Given the description of an element on the screen output the (x, y) to click on. 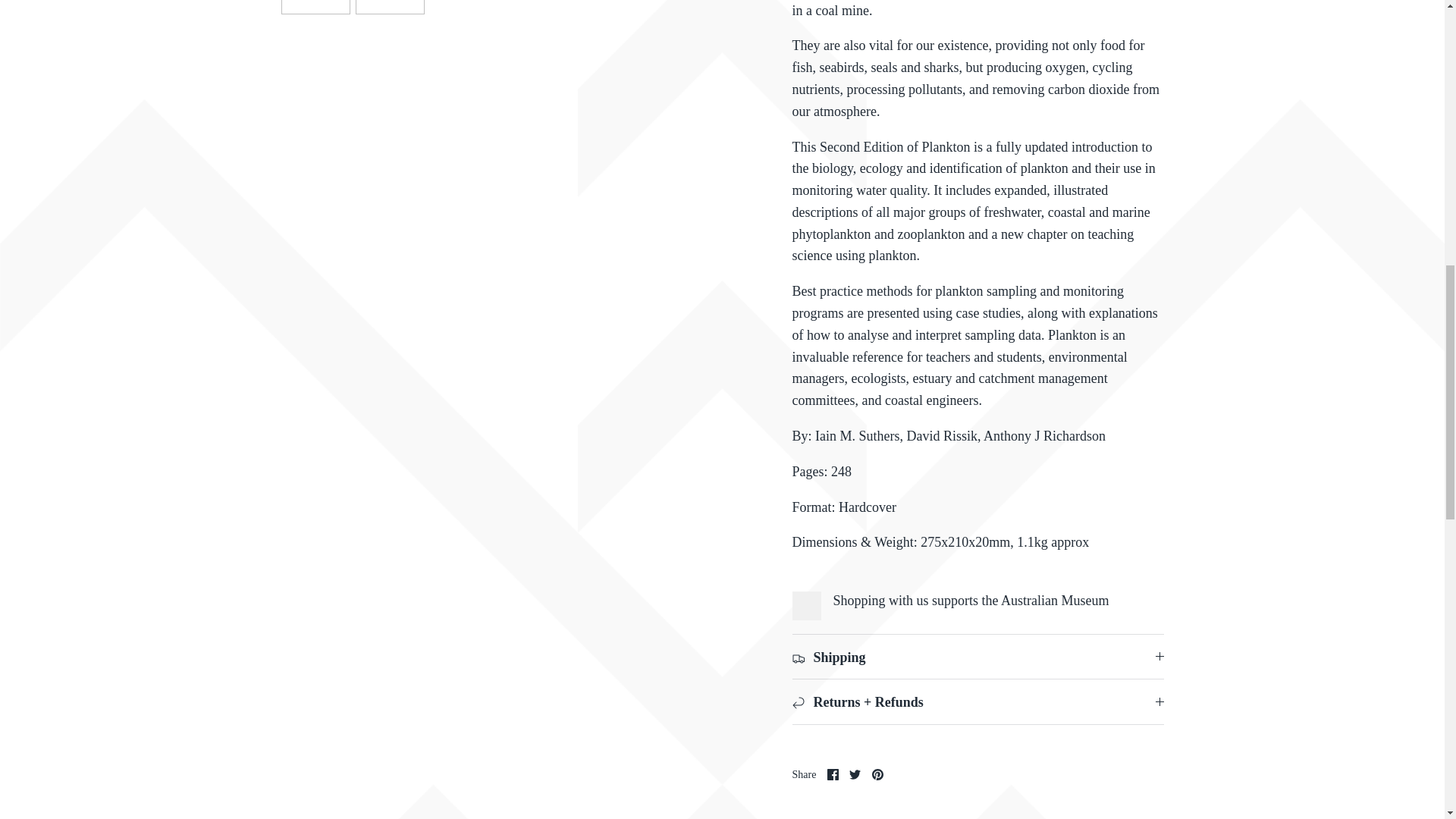
Twitter (854, 774)
Pinterest (877, 774)
Facebook (832, 774)
